Given the description of an element on the screen output the (x, y) to click on. 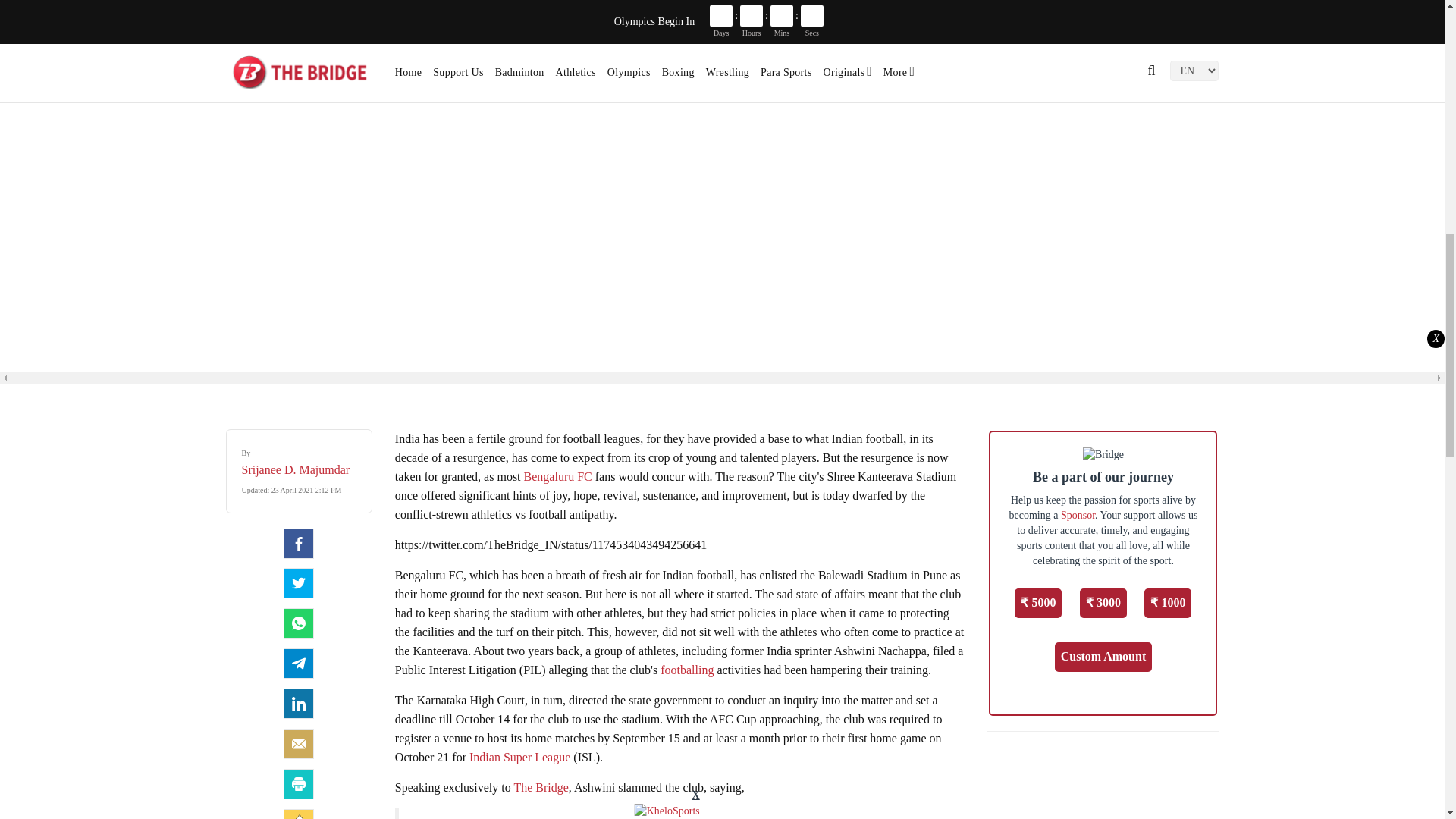
Share by Email (298, 743)
LinkedIn (298, 703)
